Given the description of an element on the screen output the (x, y) to click on. 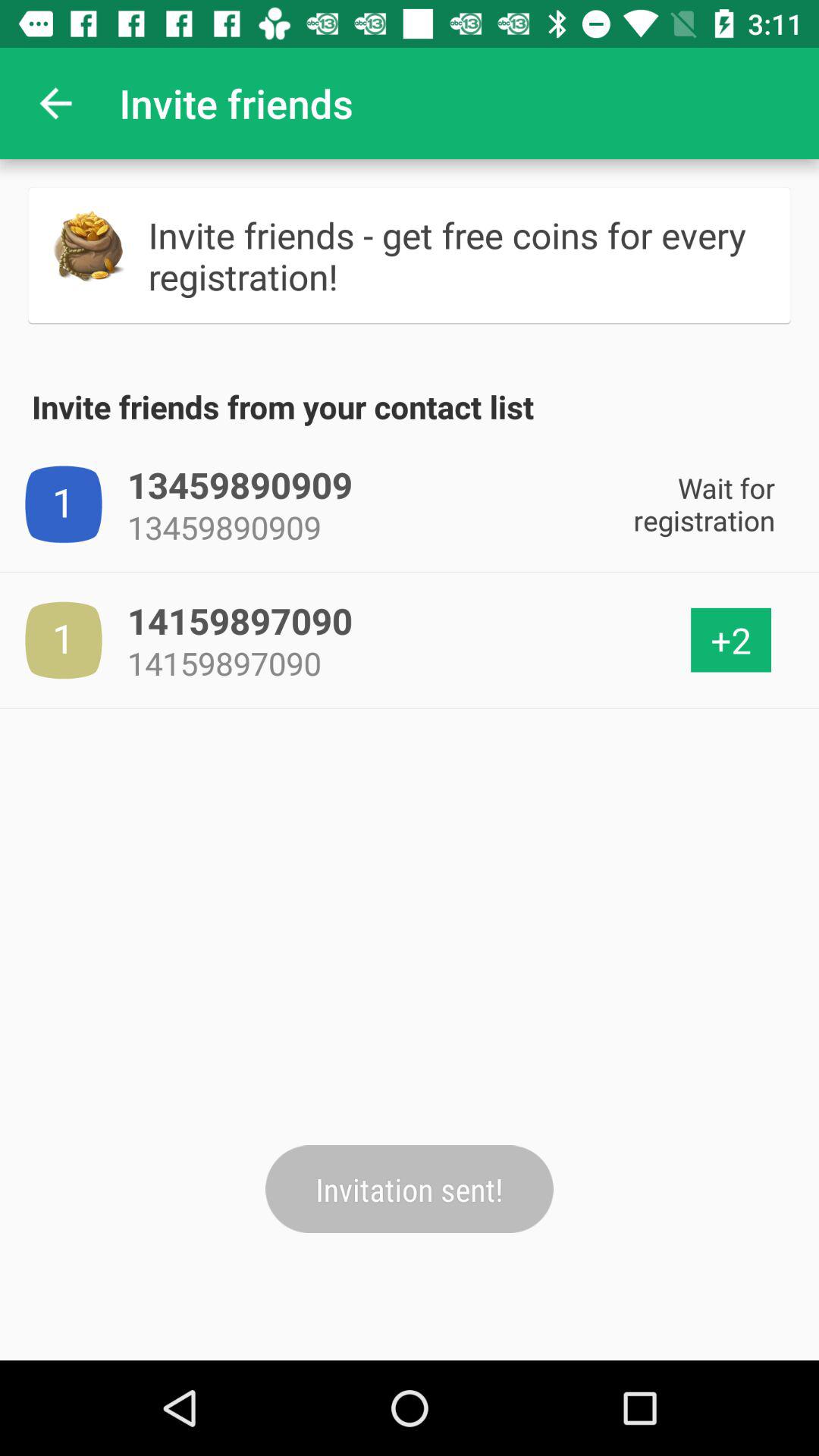
swipe until the +2 (731, 639)
